Given the description of an element on the screen output the (x, y) to click on. 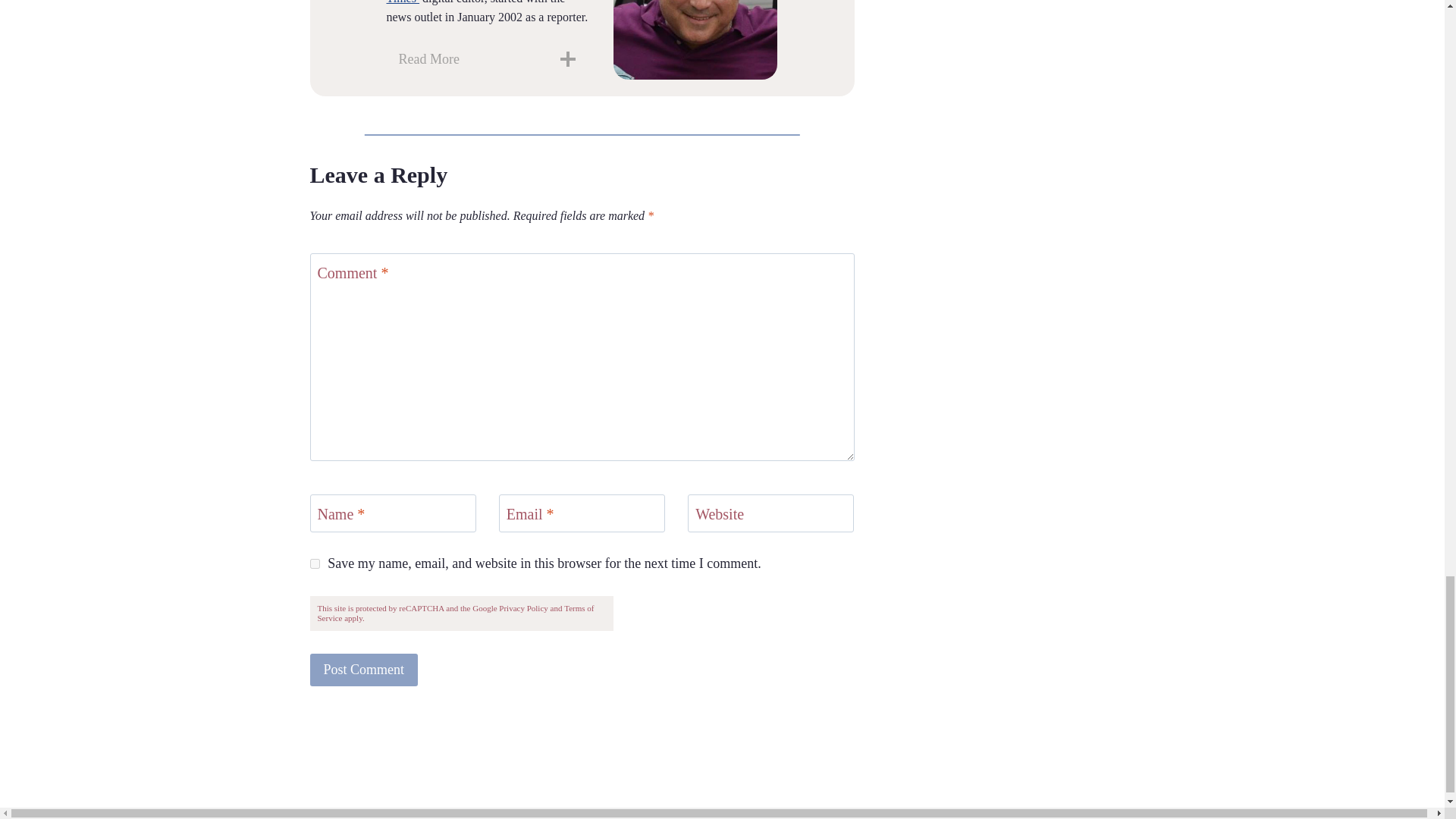
Post Comment (362, 669)
yes (313, 563)
